Given the description of an element on the screen output the (x, y) to click on. 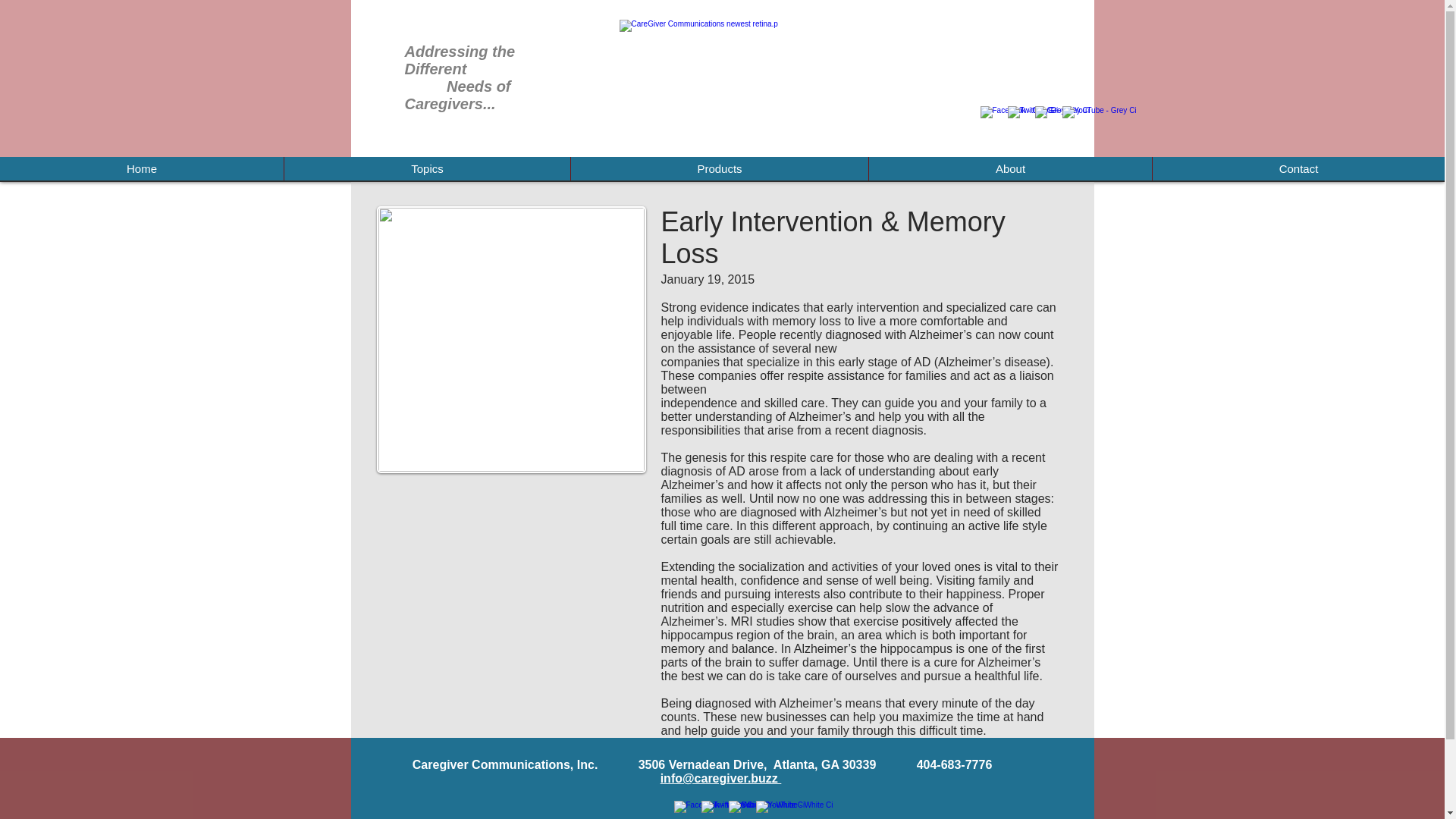
About (1009, 168)
Topics (426, 168)
Home (141, 168)
Products (718, 168)
